Given the description of an element on the screen output the (x, y) to click on. 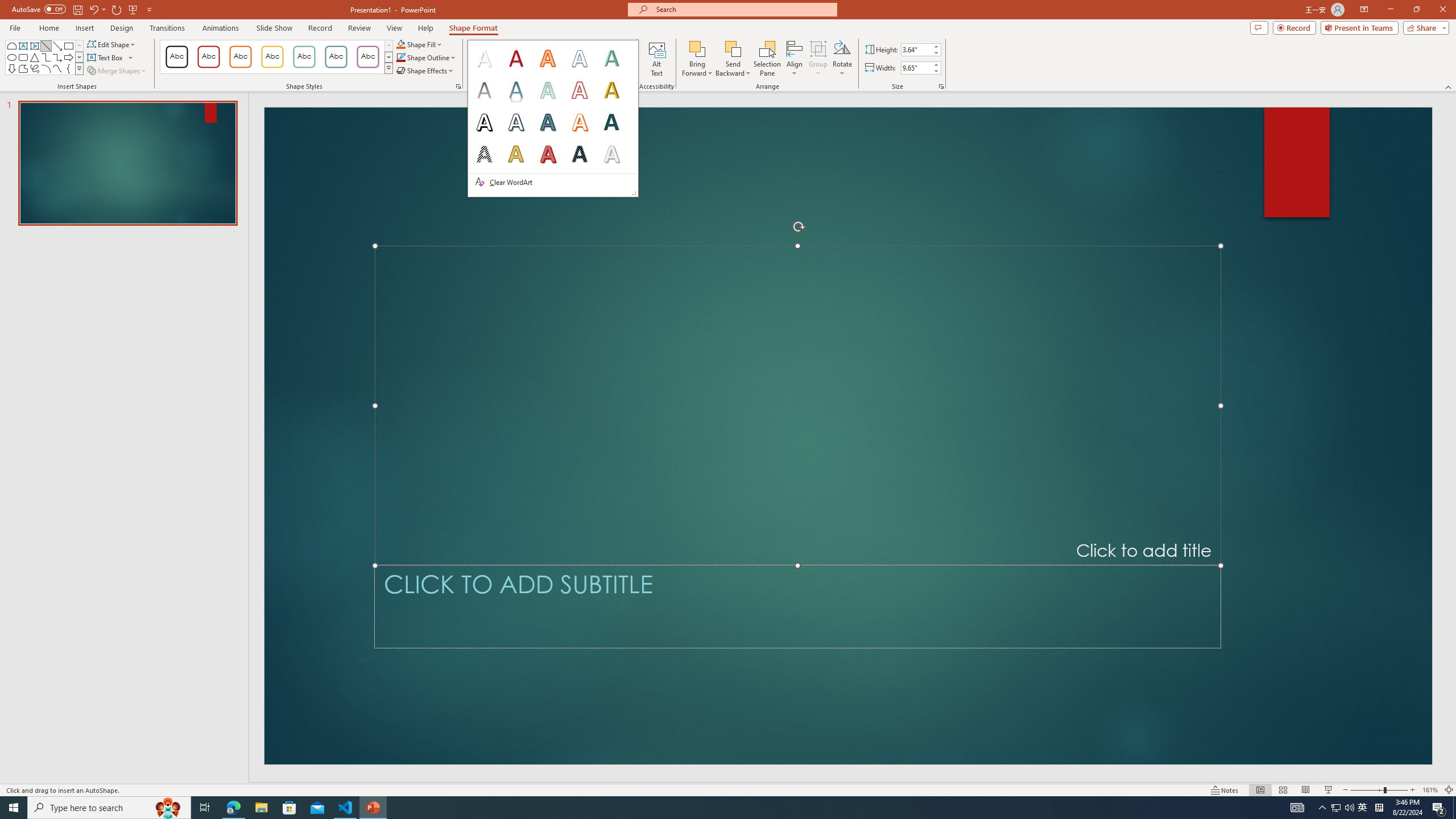
Alt Text (656, 58)
Zoom 161% (1430, 790)
AutomationID: ShapeStylesGallery (276, 56)
